Given the description of an element on the screen output the (x, y) to click on. 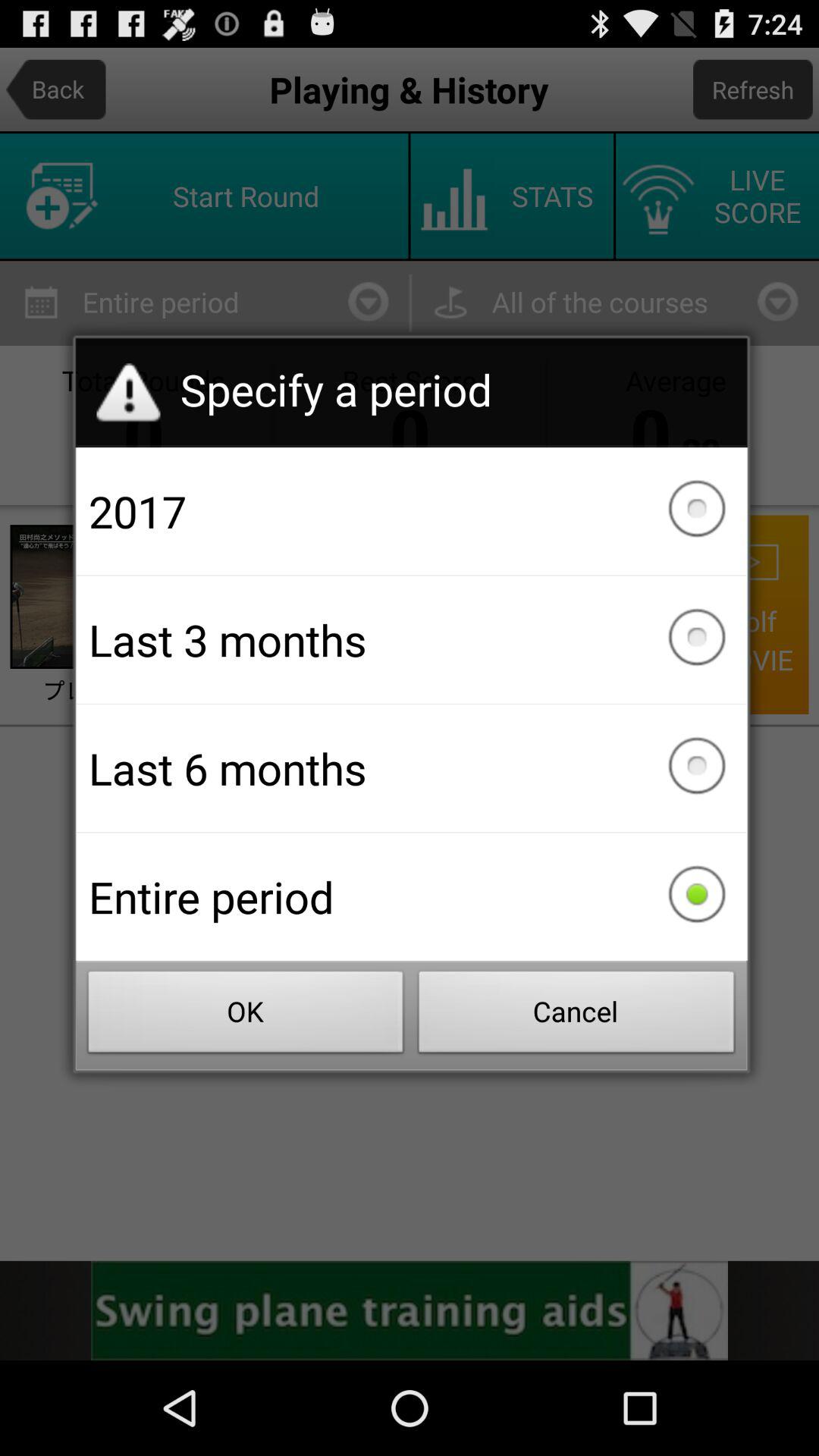
choose button at the bottom left corner (245, 1016)
